Given the description of an element on the screen output the (x, y) to click on. 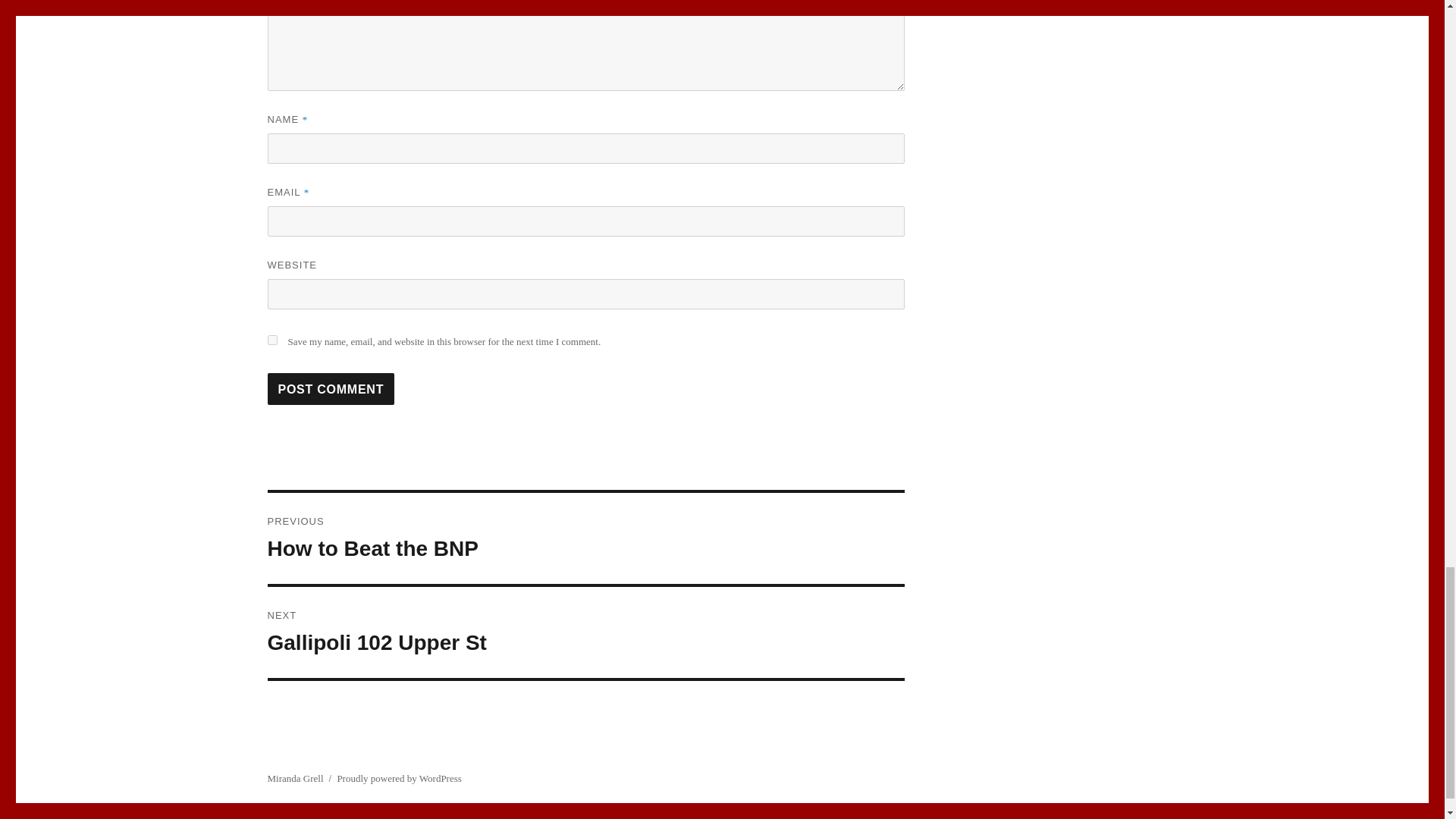
yes (585, 538)
Post Comment (585, 632)
Miranda Grell (271, 339)
Post Comment (330, 388)
Proudly powered by WordPress (294, 778)
